Given the description of an element on the screen output the (x, y) to click on. 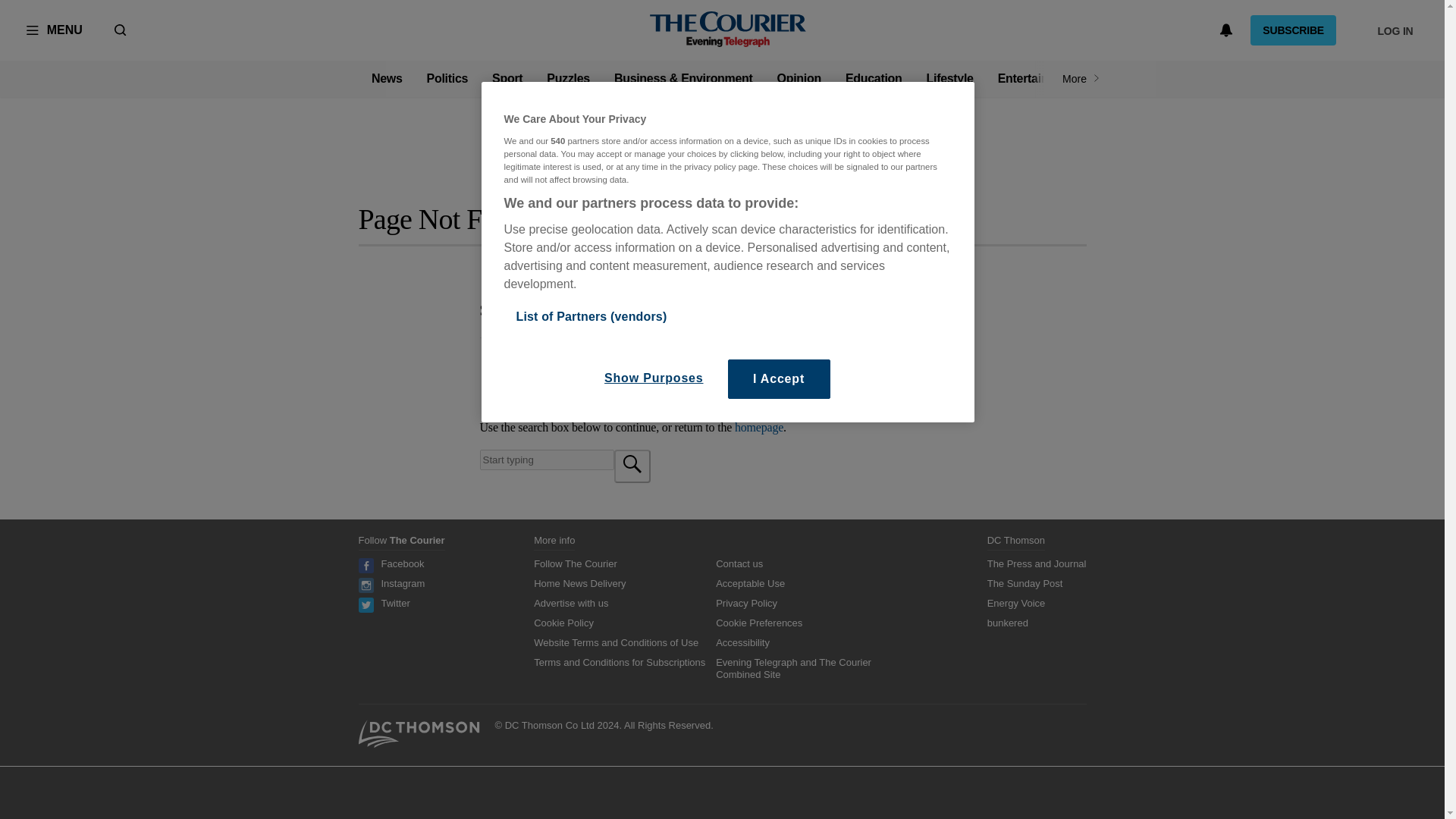
Search (545, 459)
Twitter (394, 603)
Instagram (402, 583)
The Courier (727, 30)
Facebook (401, 563)
MENU (54, 30)
